Given the description of an element on the screen output the (x, y) to click on. 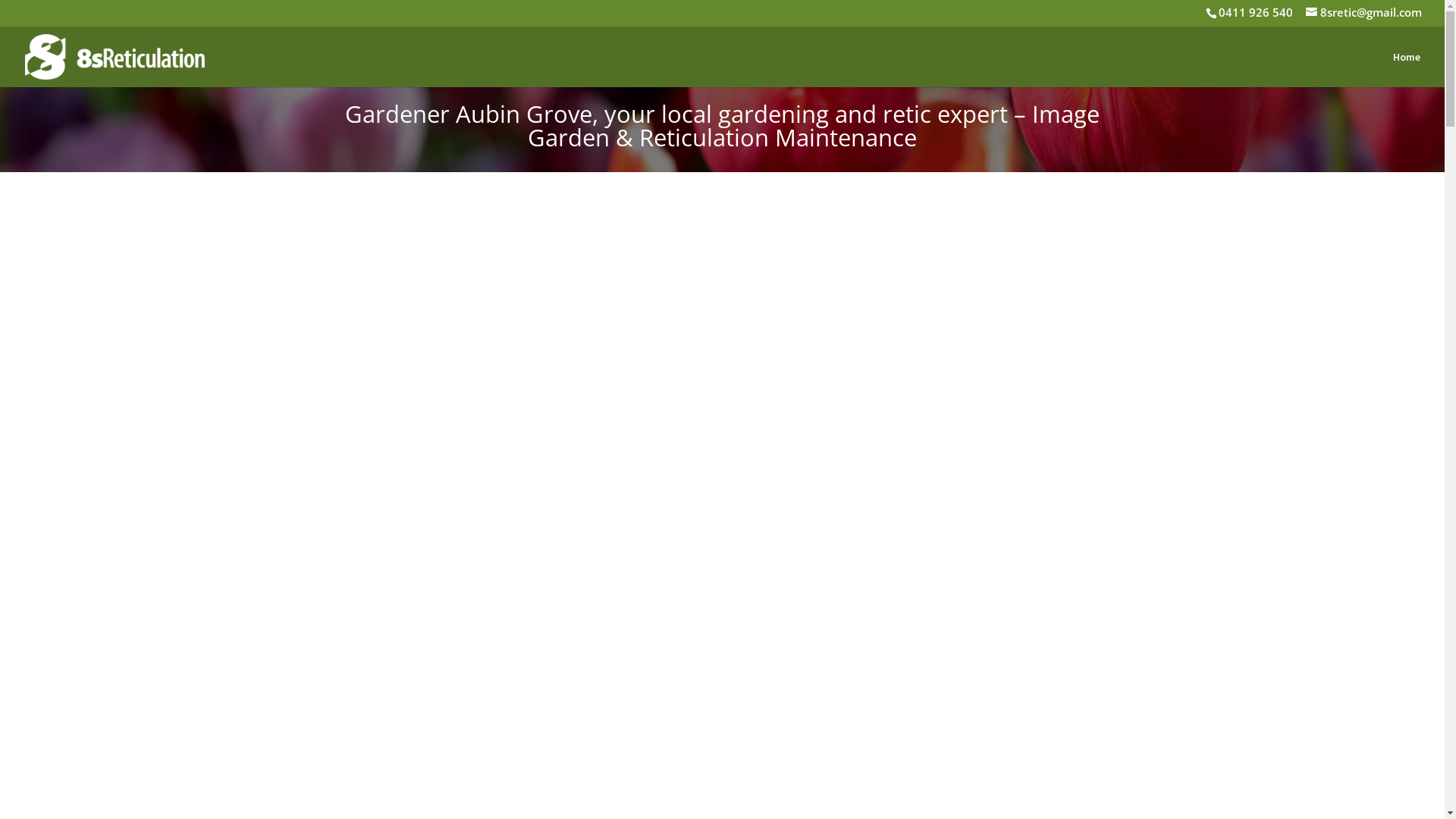
8sretic@gmail.com Element type: text (1363, 12)
Home Element type: text (1406, 69)
